Given the description of an element on the screen output the (x, y) to click on. 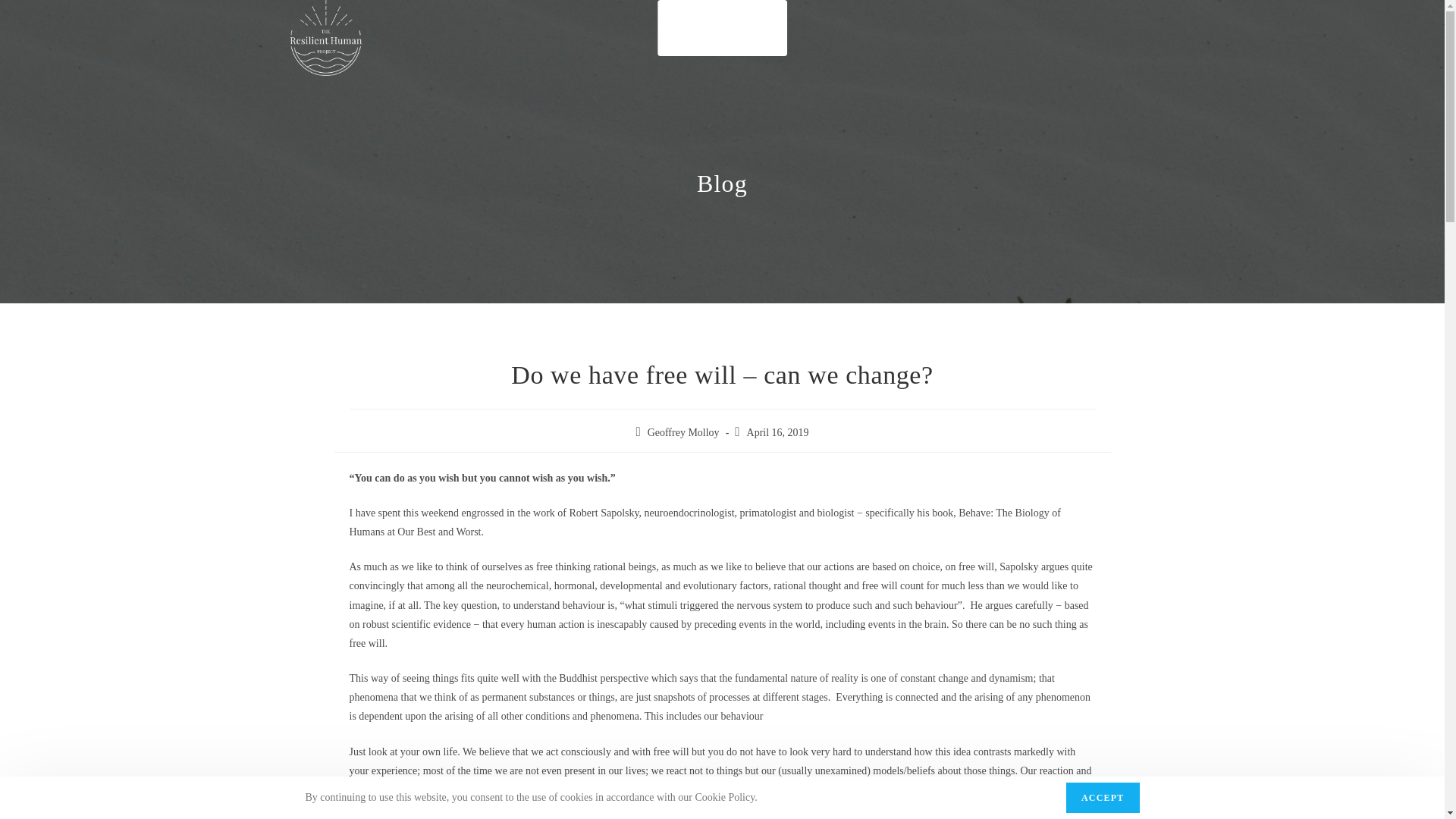
Posts by Geoffrey Molloy (683, 432)
Geoffrey Molloy (683, 432)
OUR BLOG (748, 28)
HOME (684, 28)
